Given the description of an element on the screen output the (x, y) to click on. 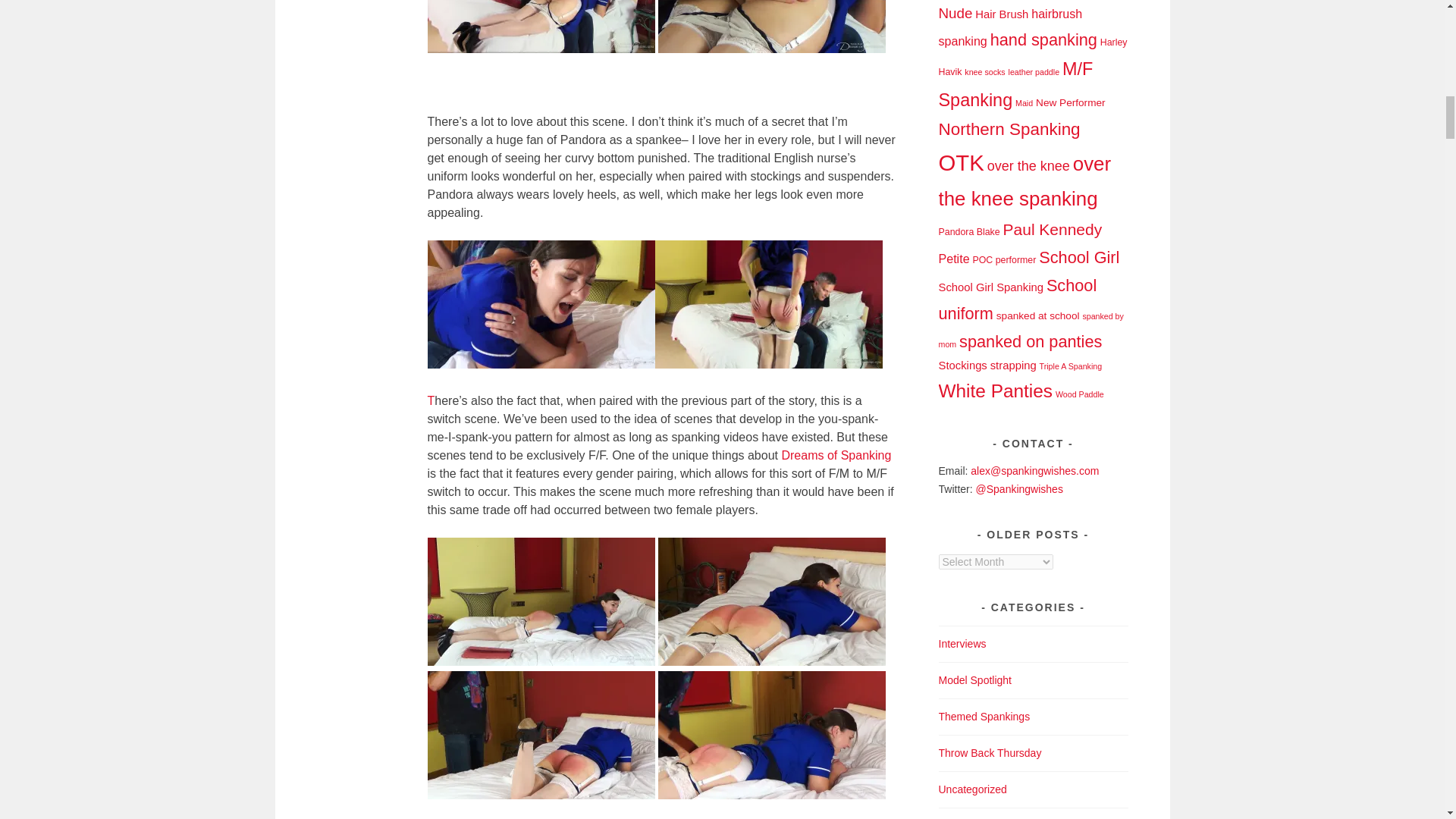
Dreams of Spanking (835, 454)
